Given the description of an element on the screen output the (x, y) to click on. 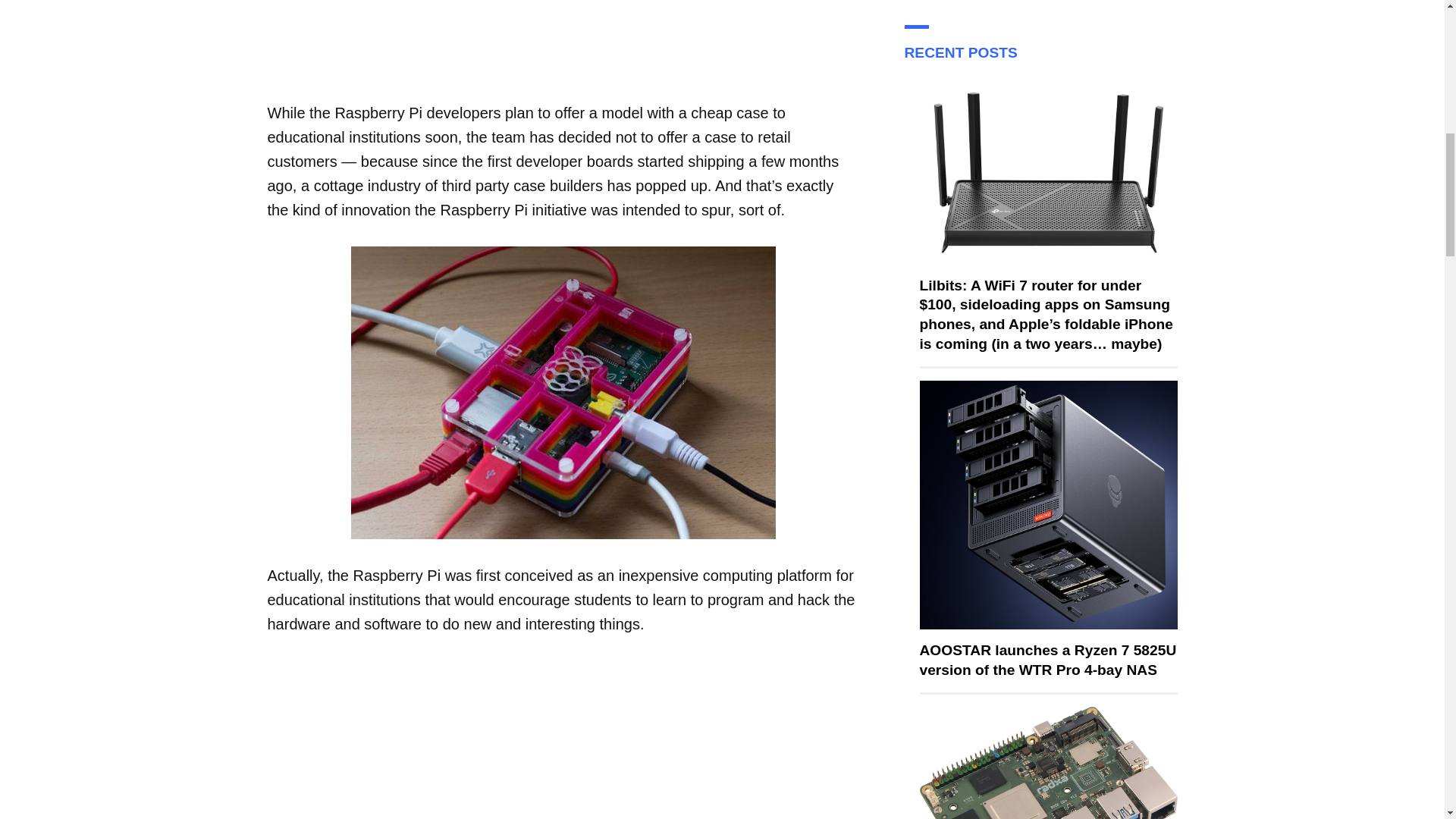
pibow (562, 392)
